Given the description of an element on the screen output the (x, y) to click on. 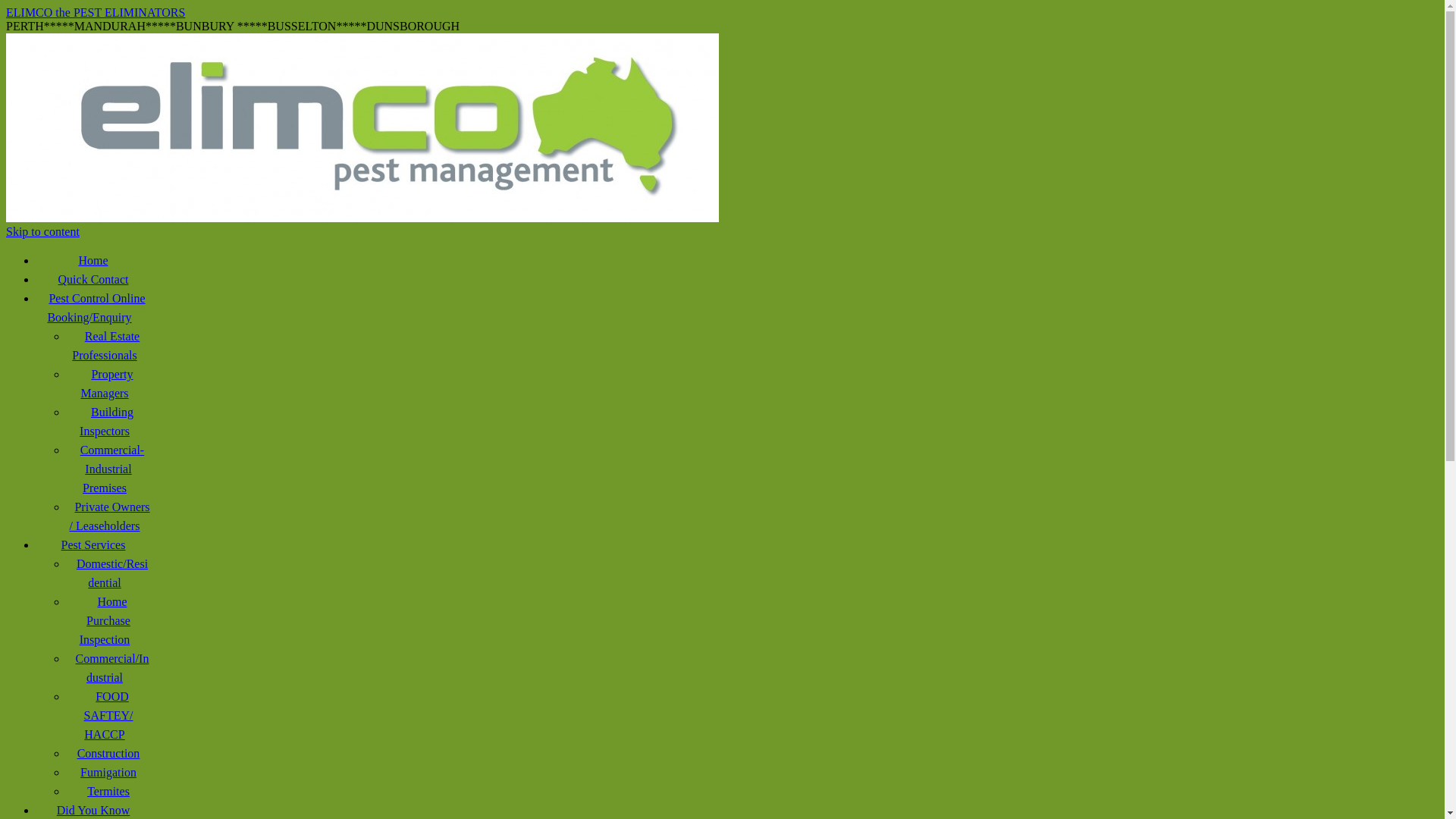
Commercial/Industrial Element type: text (108, 667)
Quick Contact Element type: text (93, 279)
Commercial-Industrial Premises Element type: text (108, 469)
Skip to content Element type: text (42, 231)
FOOD SAFTEY/ HACCP Element type: text (108, 715)
Fumigation Element type: text (108, 772)
Building Inspectors Element type: text (108, 421)
Home Purchase Inspection Element type: text (108, 620)
Termites Element type: text (108, 791)
Home Element type: text (92, 260)
Pest Control Online Booking/Enquiry Element type: text (92, 307)
Domestic/Residential Element type: text (108, 572)
Property Managers Element type: text (107, 383)
Real Estate Professionals Element type: text (108, 345)
ELIMCO the PEST ELIMINATORS Element type: text (95, 12)
Private Owners / Leaseholders Element type: text (107, 515)
Pest Services Element type: text (93, 544)
Construction Element type: text (108, 753)
